Given the description of an element on the screen output the (x, y) to click on. 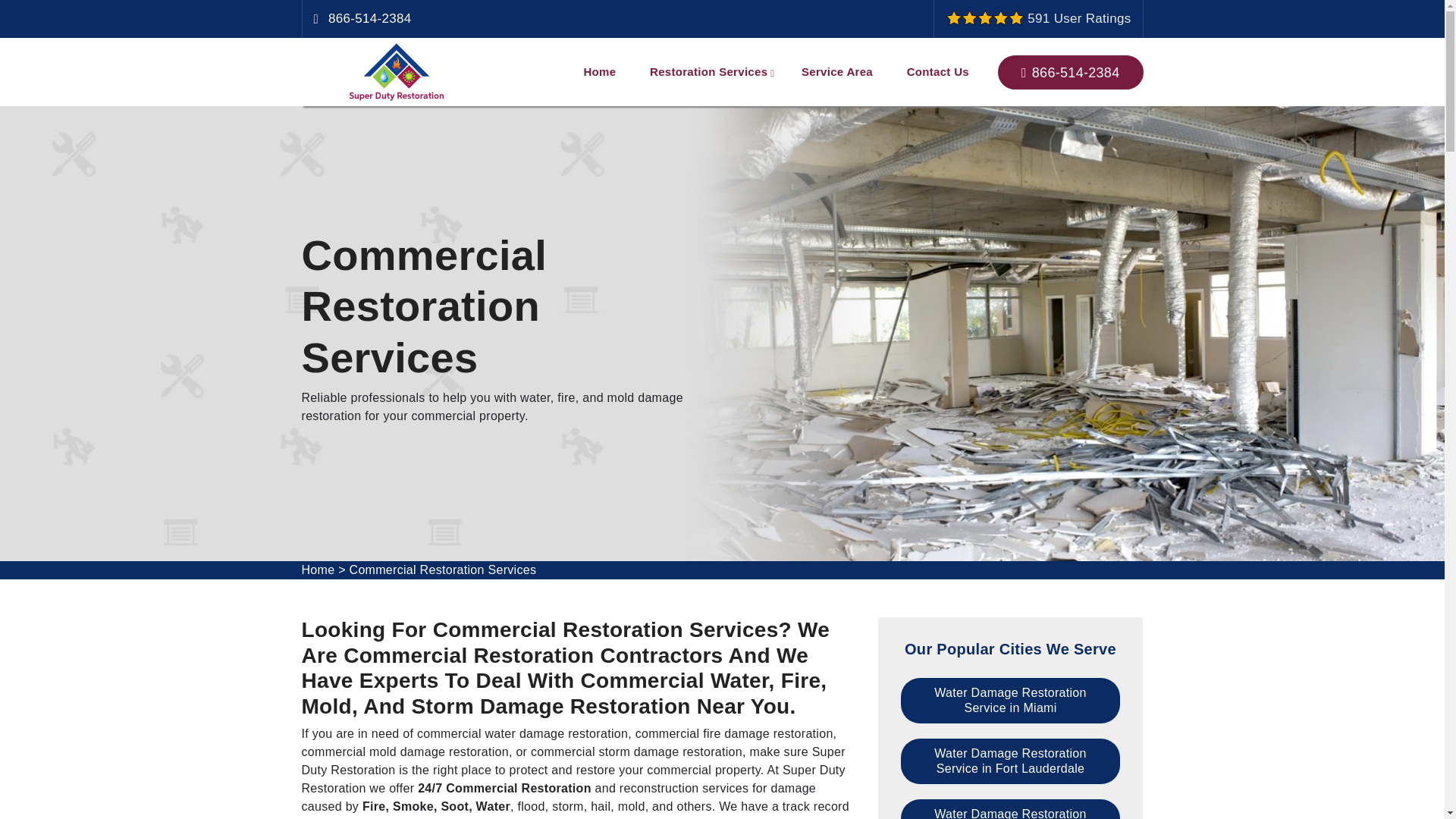
Water Damage Restoration Service in Fort Lauderdale (1011, 760)
Water Damage Restoration Service in New York (1011, 809)
866-514-2384 (1069, 71)
Commercial Restoration Services (443, 569)
Home (598, 71)
Contact Us (937, 71)
Home (317, 569)
Restoration Services (708, 71)
Super Duty Restoration (396, 71)
Water Damage Restoration Service in Miami (1011, 700)
